Given the description of an element on the screen output the (x, y) to click on. 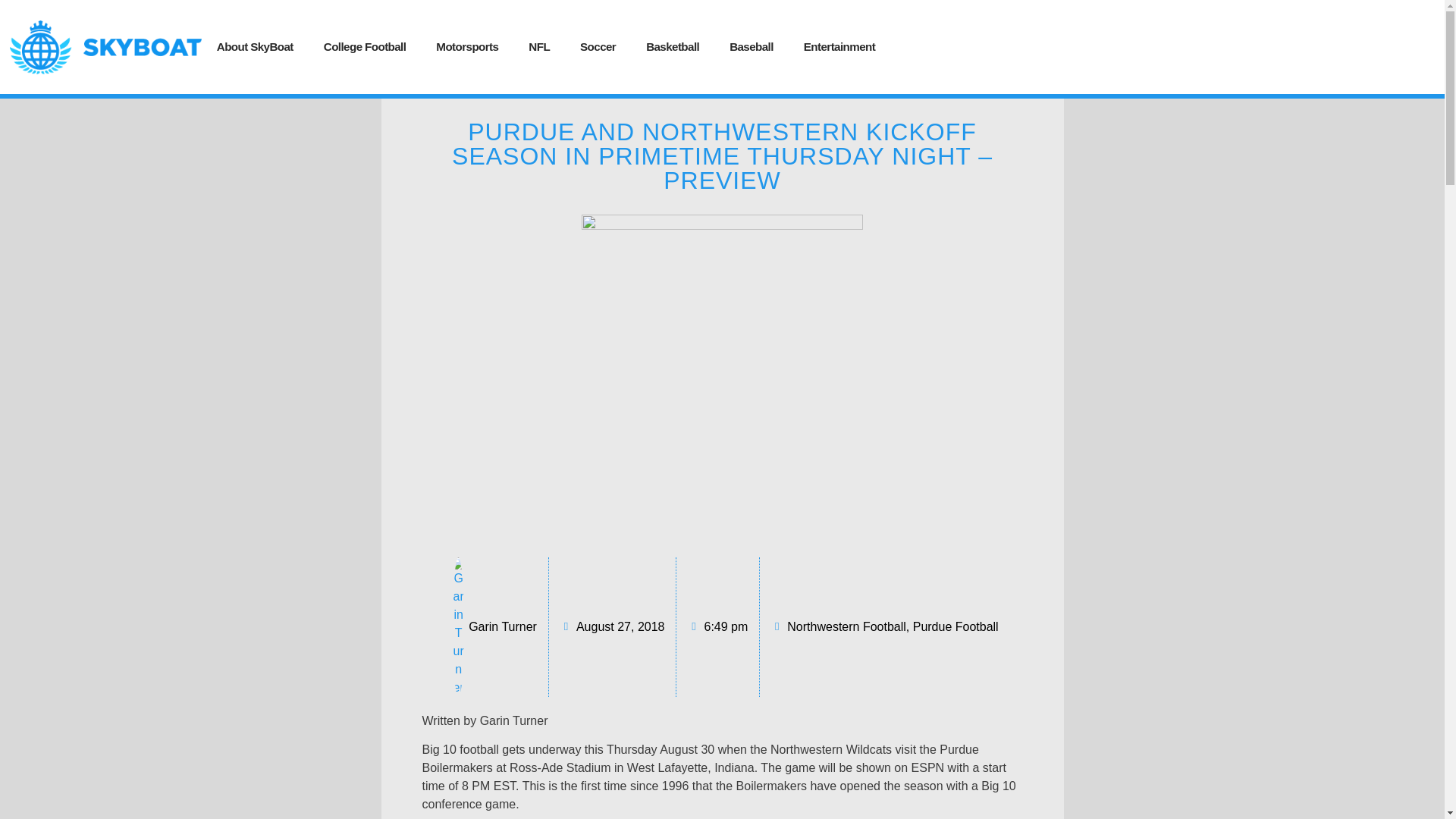
Basketball (672, 46)
About SkyBoat (255, 46)
Soccer (597, 46)
Motorsports (466, 46)
College Football (365, 46)
